Given the description of an element on the screen output the (x, y) to click on. 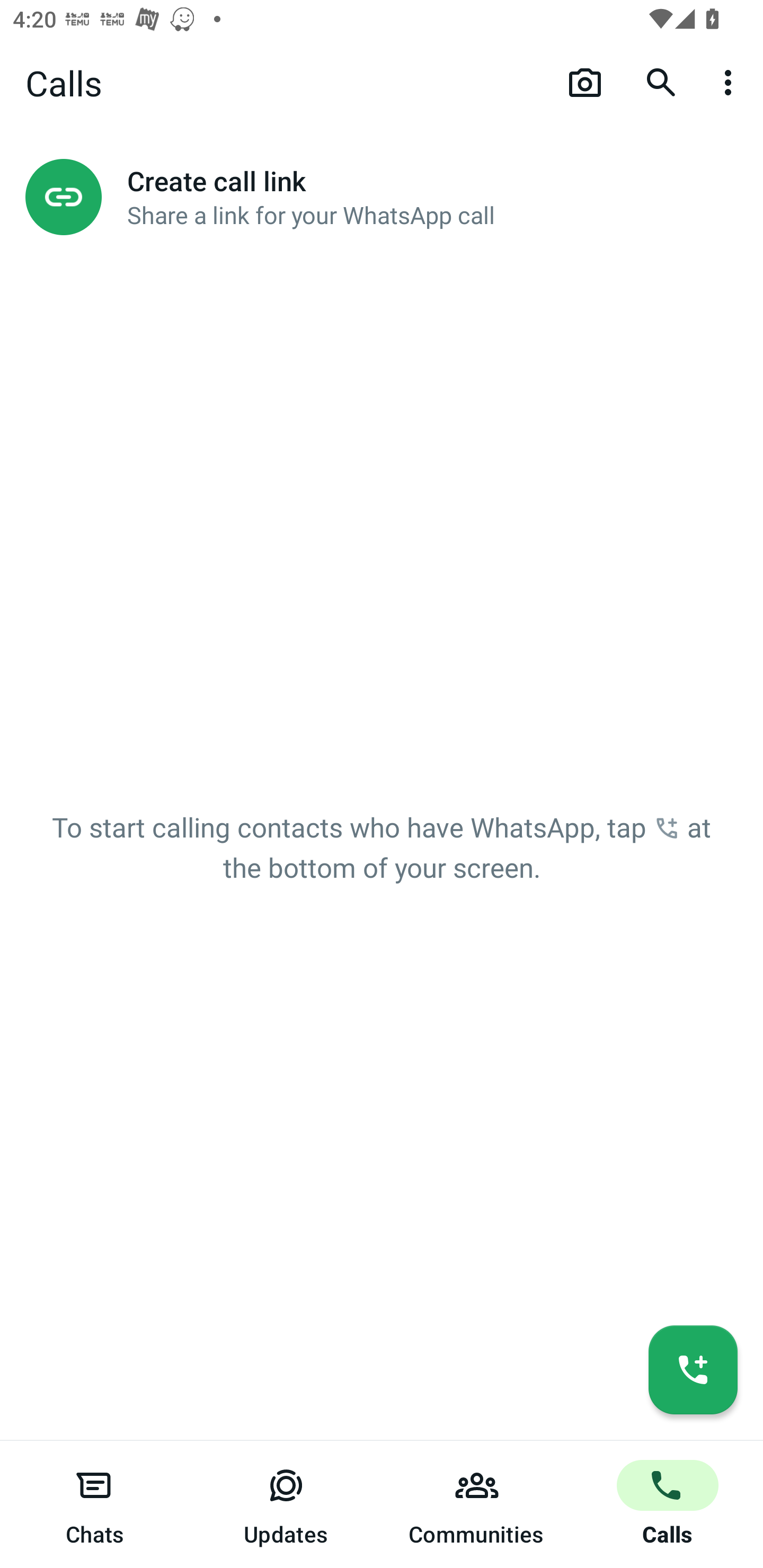
Camera (585, 81)
Search (661, 81)
More options (731, 81)
New call (692, 1369)
Chats (95, 1504)
Updates (285, 1504)
Communities (476, 1504)
